Given the description of an element on the screen output the (x, y) to click on. 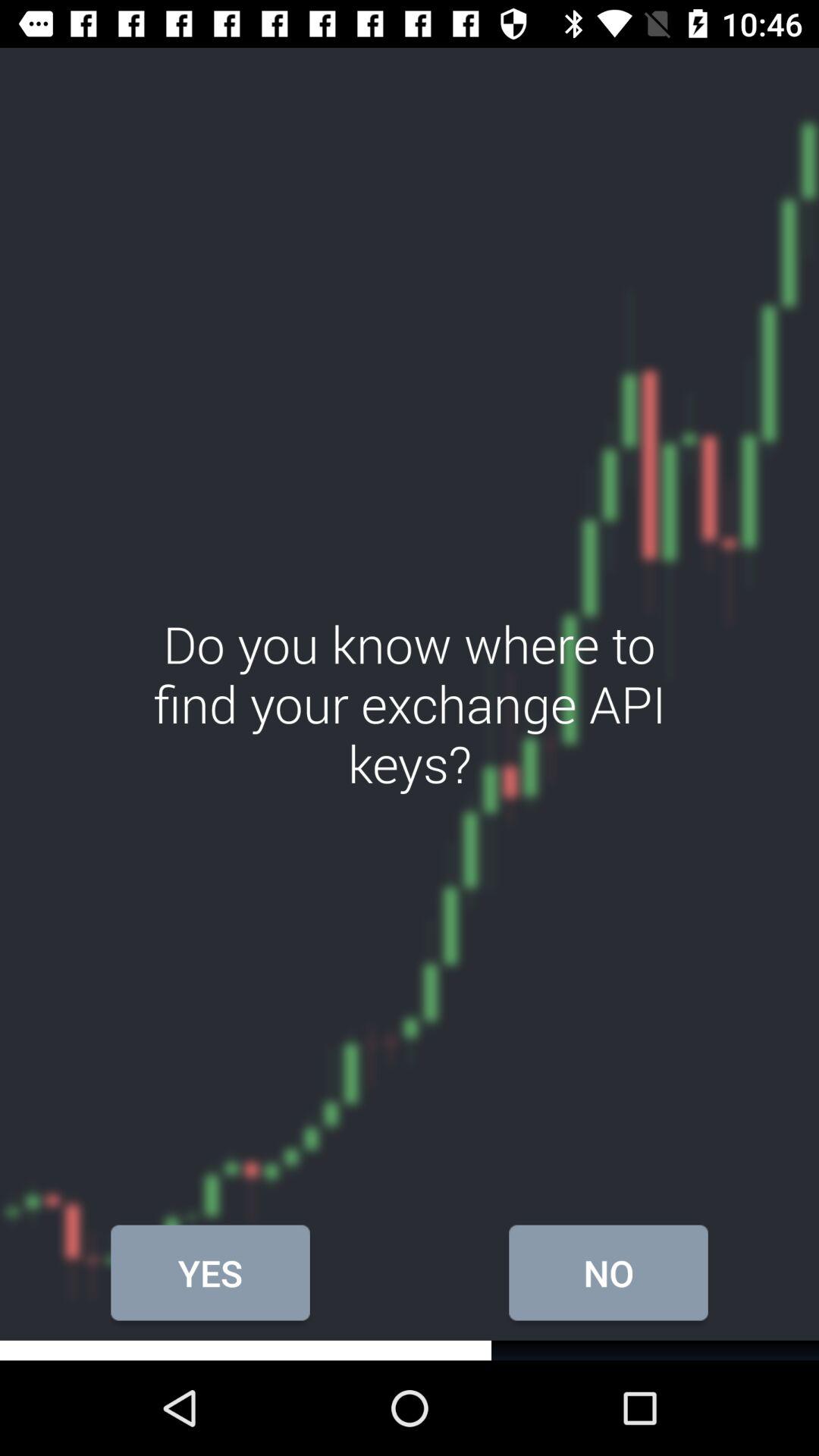
press item next to the yes item (608, 1272)
